Given the description of an element on the screen output the (x, y) to click on. 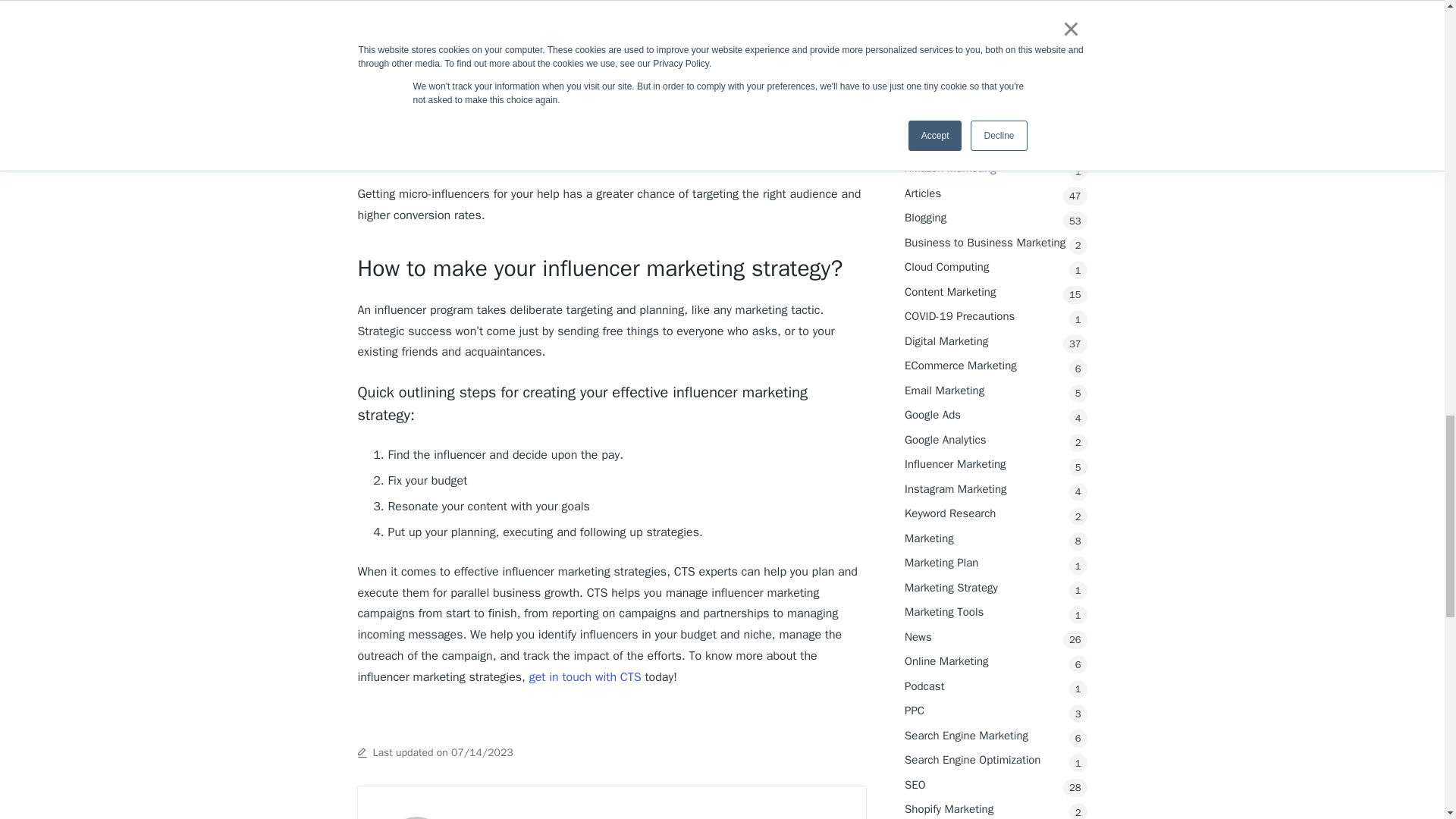
get in touch with CTS (585, 676)
